Given the description of an element on the screen output the (x, y) to click on. 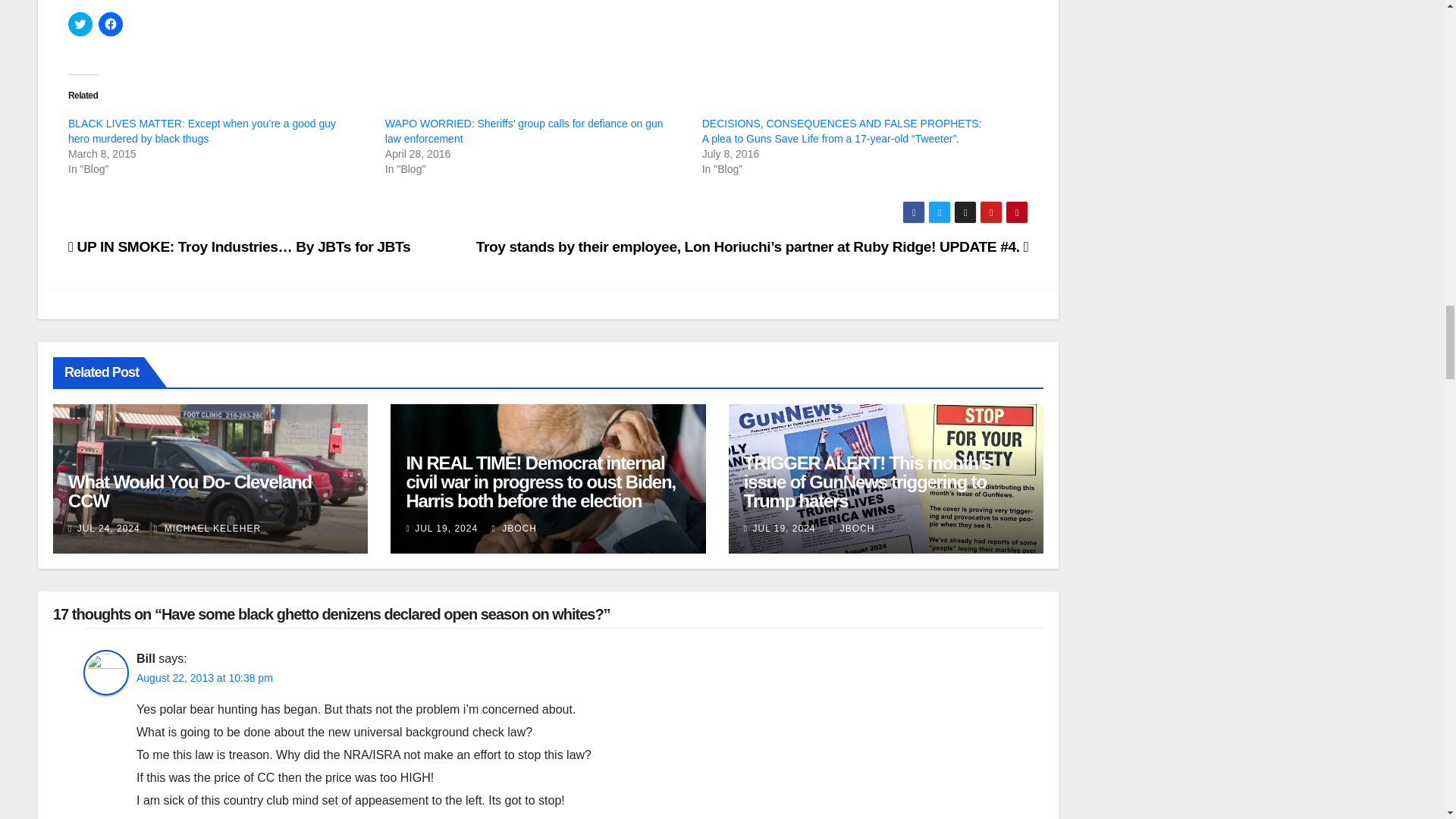
Click to share on Facebook (110, 24)
What Would You Do- Cleveland CCW (189, 491)
Click to share on Twitter (80, 24)
